Given the description of an element on the screen output the (x, y) to click on. 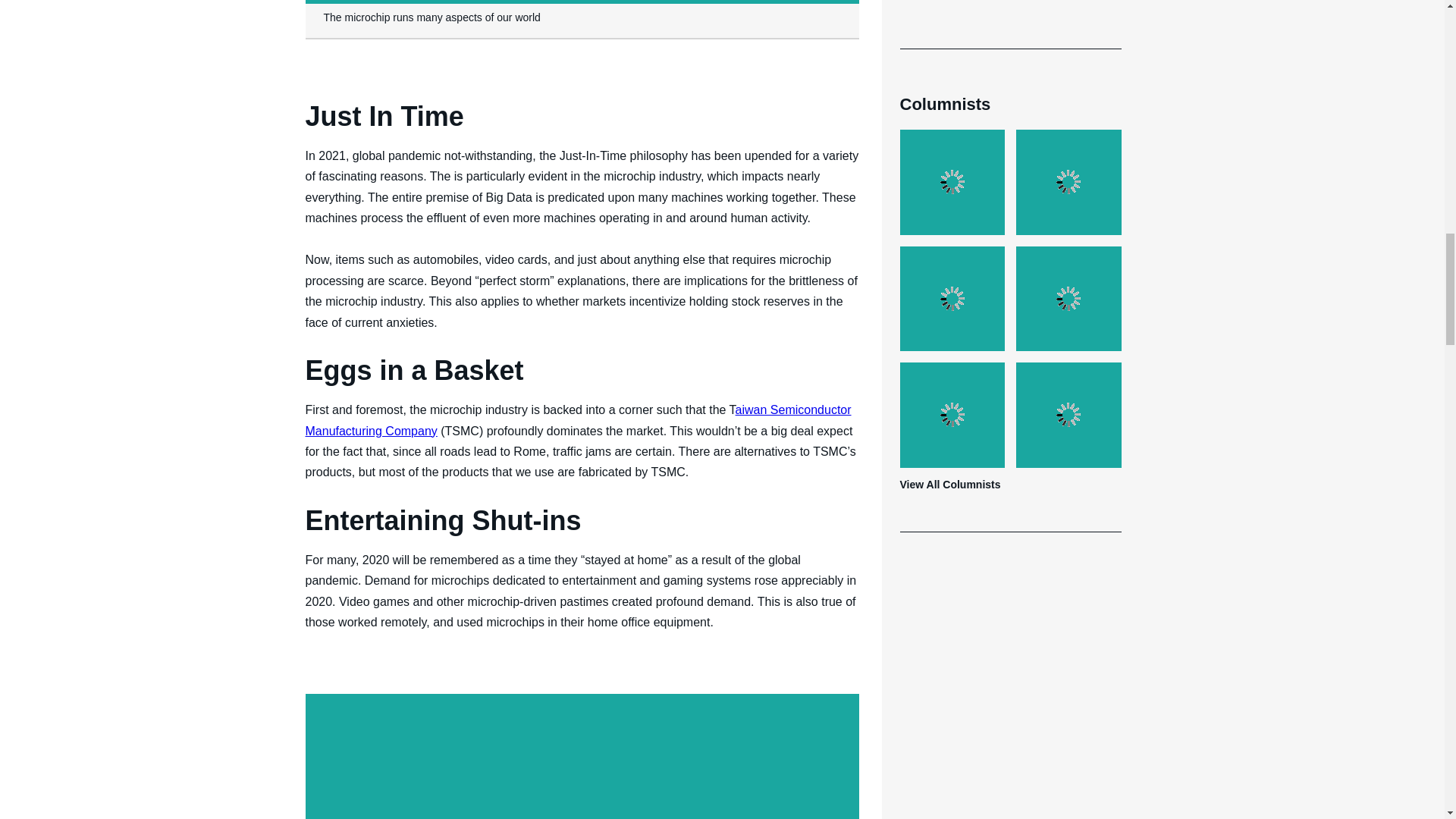
aiwan Semiconductor Manufacturing Company (577, 419)
